Given the description of an element on the screen output the (x, y) to click on. 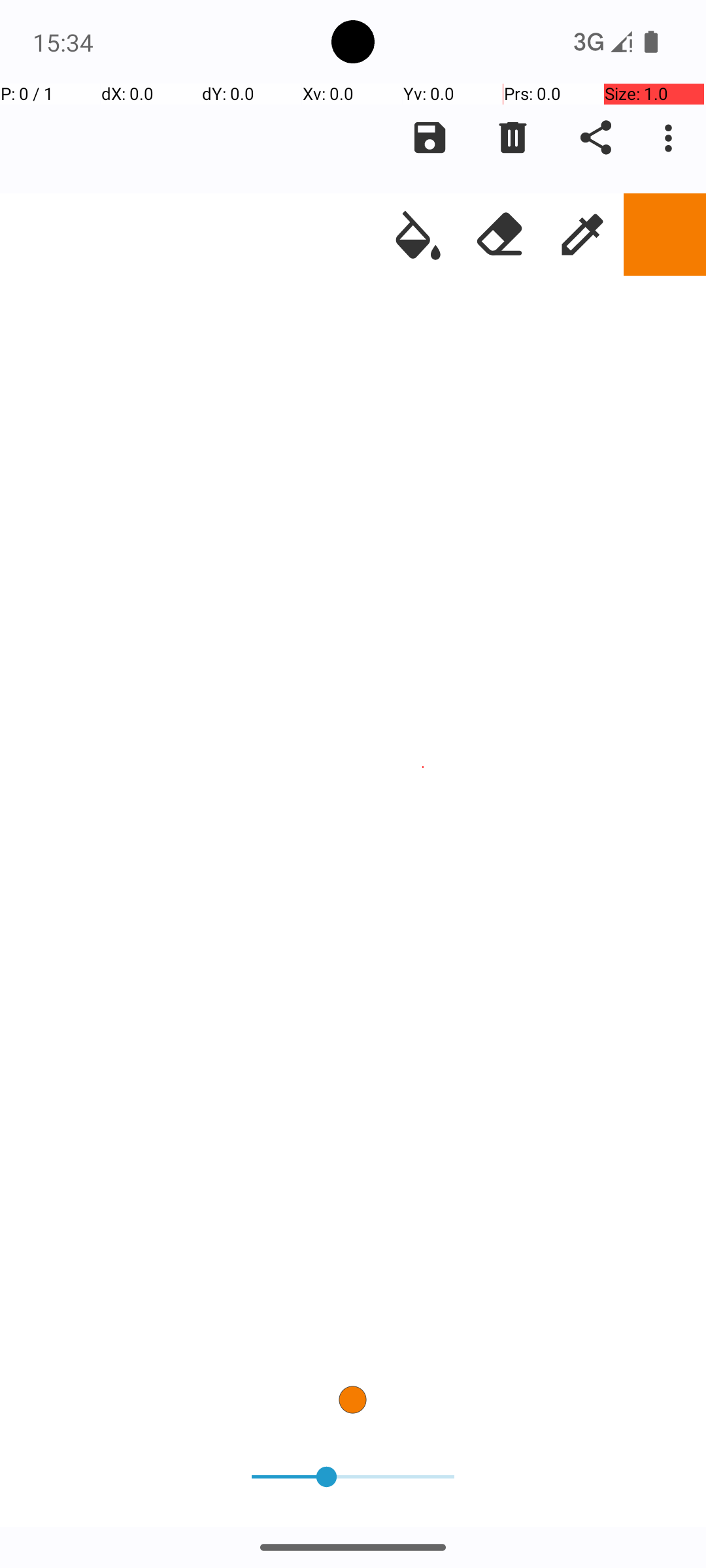
Clear Element type: android.widget.Button (512, 137)
Bucket fill Element type: android.widget.ImageView (417, 234)
Eraser Element type: android.widget.ImageView (499, 234)
Eyedropper Element type: android.widget.ImageView (582, 234)
Change color Element type: android.widget.ImageView (664, 234)
